Given the description of an element on the screen output the (x, y) to click on. 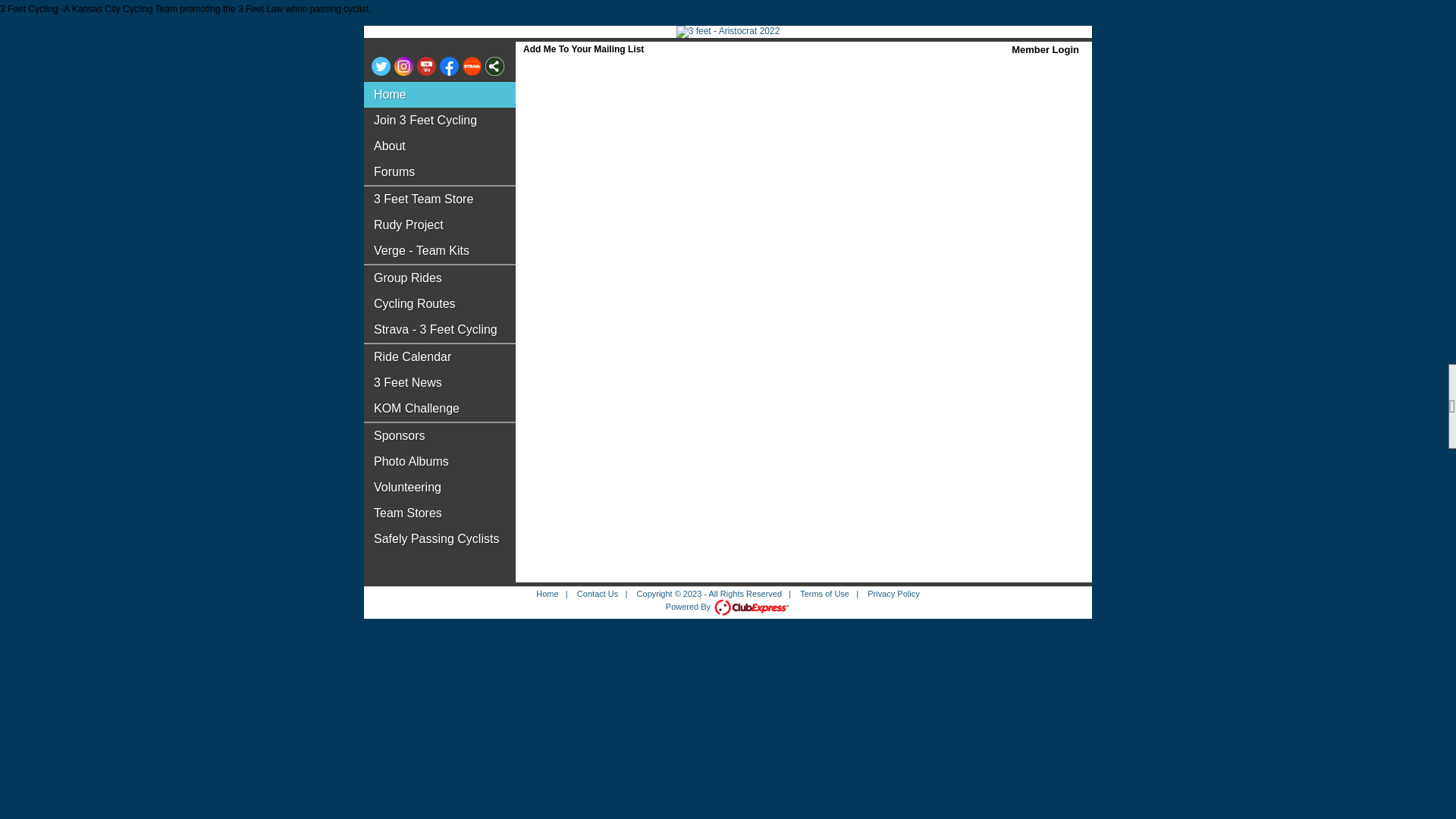
Forums Element type: text (439, 171)
Home Element type: text (547, 593)
Rudy Project Element type: text (439, 224)
Home Element type: text (439, 94)
Join 3 Feet Cycling Element type: text (439, 120)
Member Login Element type: text (1045, 49)
Photo Albums Element type: text (439, 461)
Sponsors Element type: text (439, 435)
Click here for more sharing options Element type: hover (494, 65)
Visit us on Facebook Element type: hover (448, 67)
Visit us on Instagram Element type: hover (403, 67)
Visit us on Twitter Element type: hover (380, 67)
Strava - 3 Feet Cycling Element type: text (439, 329)
Add Me To Your Mailing List Element type: text (583, 48)
Powered By  Element type: text (727, 606)
About Element type: text (439, 145)
Visit us on YouTube Element type: hover (426, 67)
Volunteering Element type: text (439, 487)
Verge - Team Kits Element type: text (439, 250)
Safely Passing Cyclists Element type: text (439, 538)
3 Feet Team Store Element type: text (439, 199)
Privacy Policy Element type: text (893, 593)
Contact Us Element type: text (597, 593)
Visit us on Strava Element type: hover (471, 67)
Terms of Use Element type: text (824, 593)
Group Rides Element type: text (439, 277)
